Given the description of an element on the screen output the (x, y) to click on. 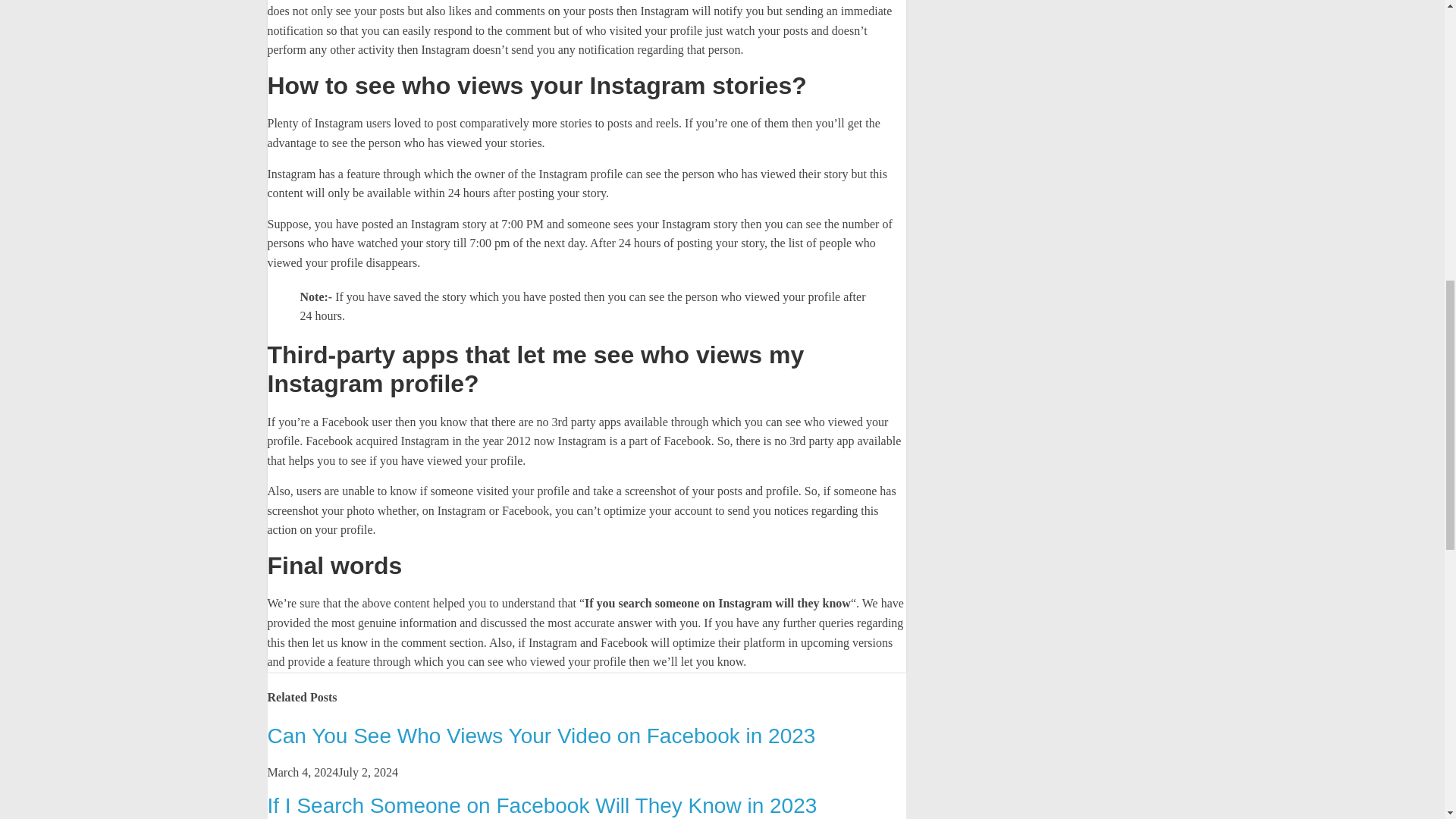
Can You See Who Views Your Video on Facebook in 2023 (540, 735)
If I Search Someone on Facebook Will They Know in 2023 (541, 805)
Can You See Who Views Your Video on Facebook in 2023 (540, 735)
If I Search Someone on Facebook Will They Know in 2023 (541, 805)
